Given the description of an element on the screen output the (x, y) to click on. 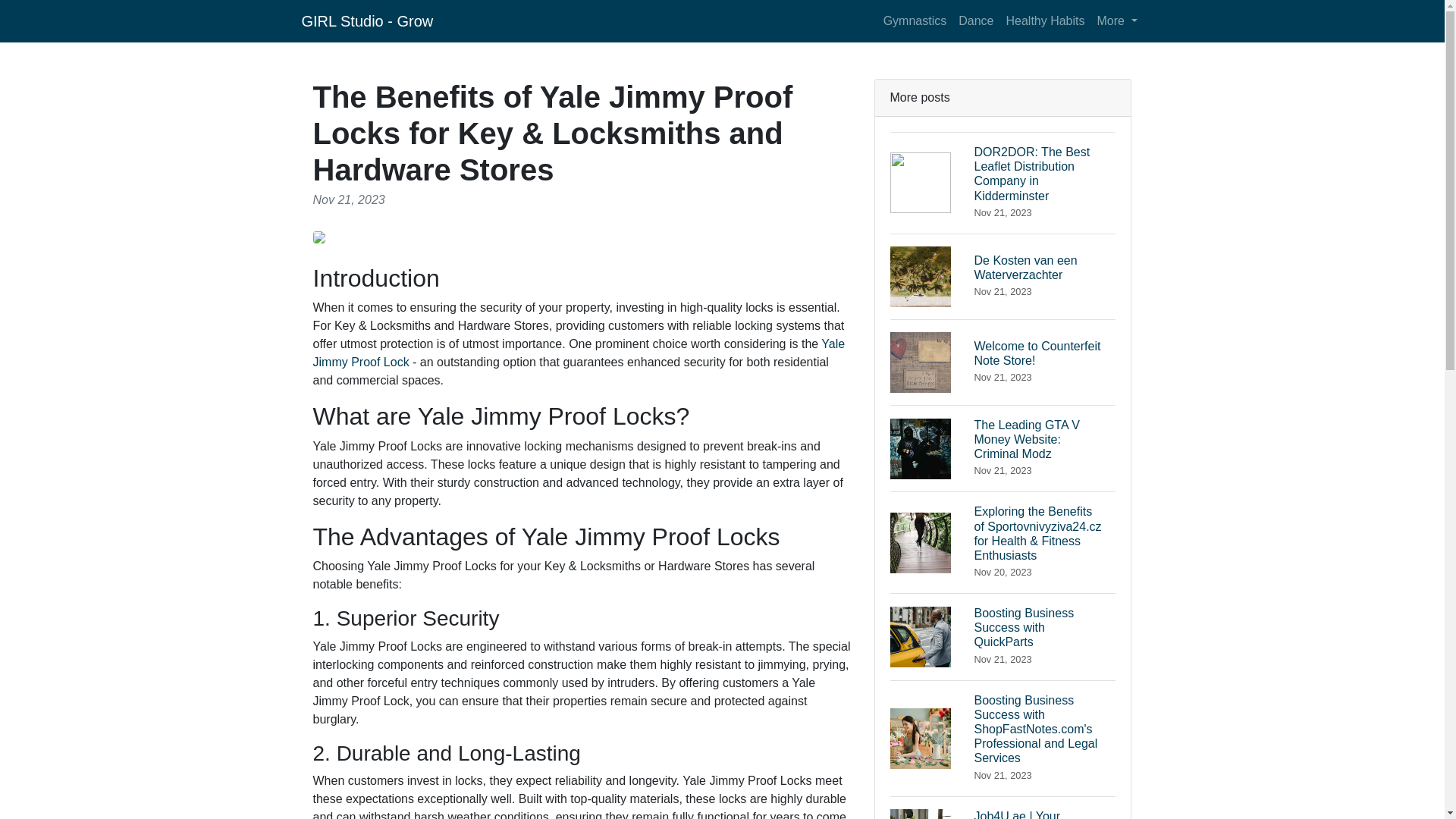
Healthy Habits (1044, 20)
More (1002, 448)
GIRL Studio - Grow (1116, 20)
Yale Jimmy Proof Lock (367, 20)
Dance (578, 352)
Gymnastics (975, 20)
